Given the description of an element on the screen output the (x, y) to click on. 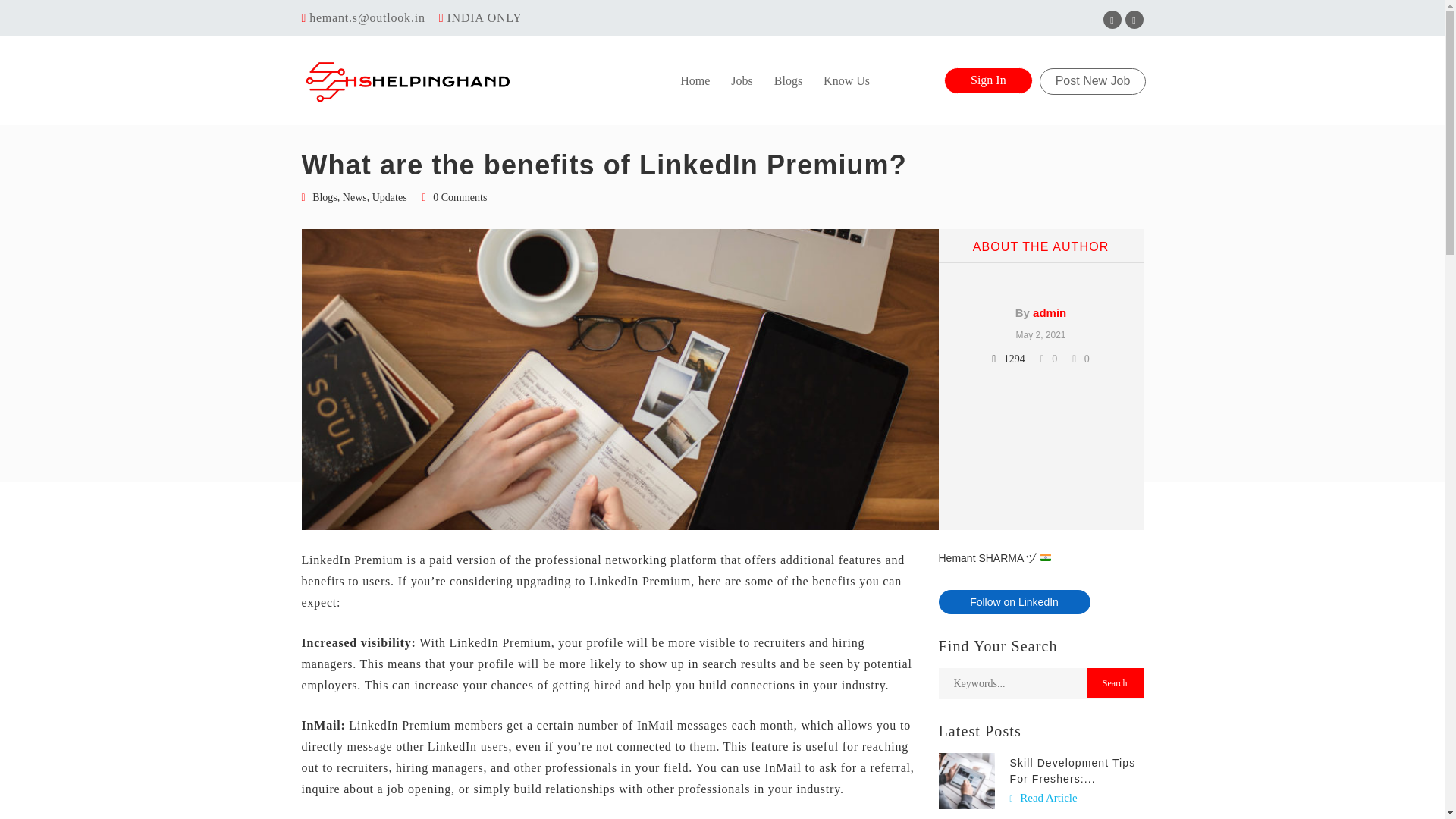
Updates (389, 197)
Post New Job (1093, 81)
News (354, 197)
Hshelpinghand (406, 81)
Search (1114, 683)
Sign In (987, 80)
Blogs (325, 197)
INDIA ONLY (483, 17)
0 Comments (459, 197)
